Given the description of an element on the screen output the (x, y) to click on. 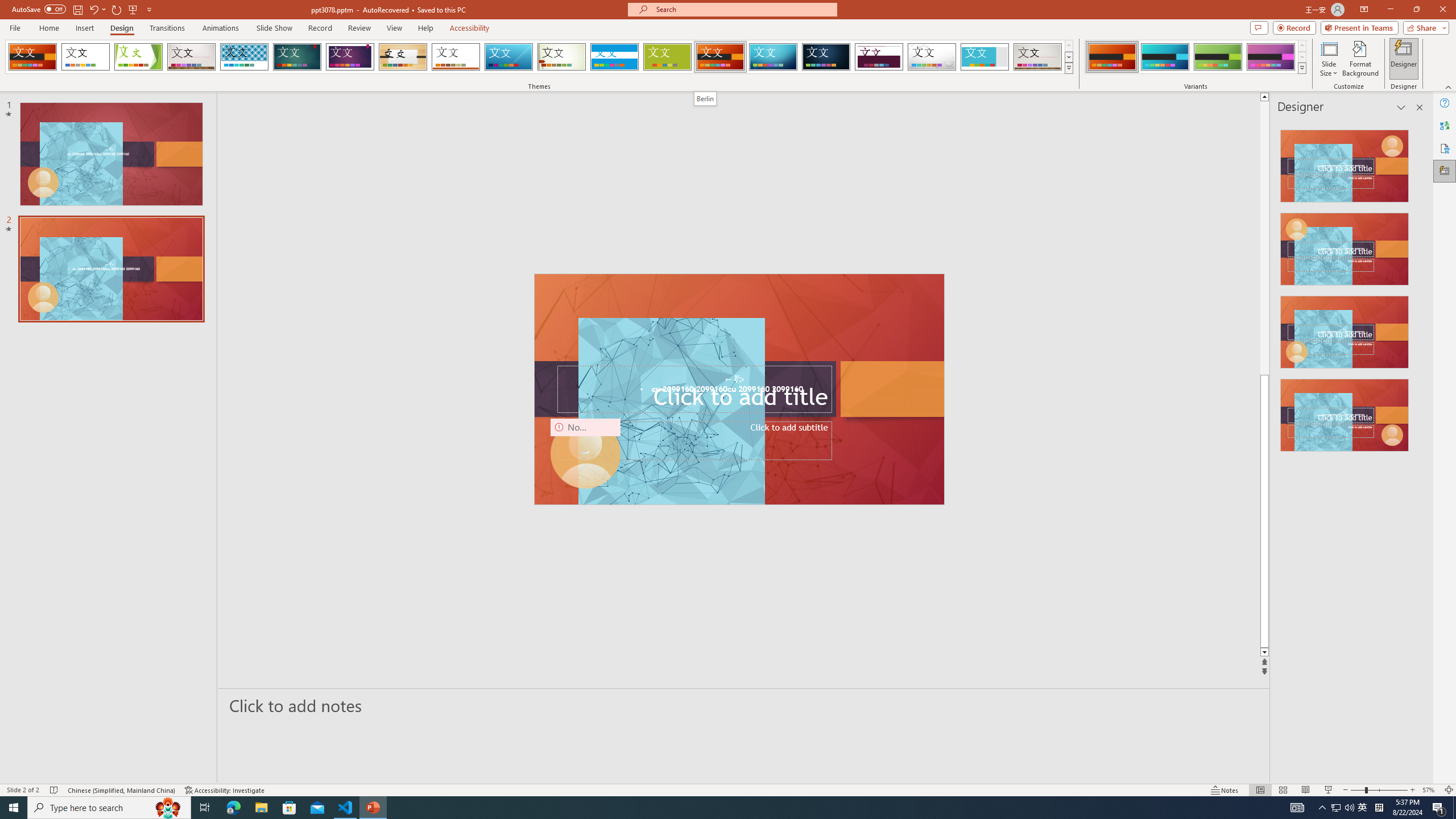
Berlin Variant 3 (1217, 56)
TextBox 61 (737, 390)
Zoom 57% (1430, 790)
